Given the description of an element on the screen output the (x, y) to click on. 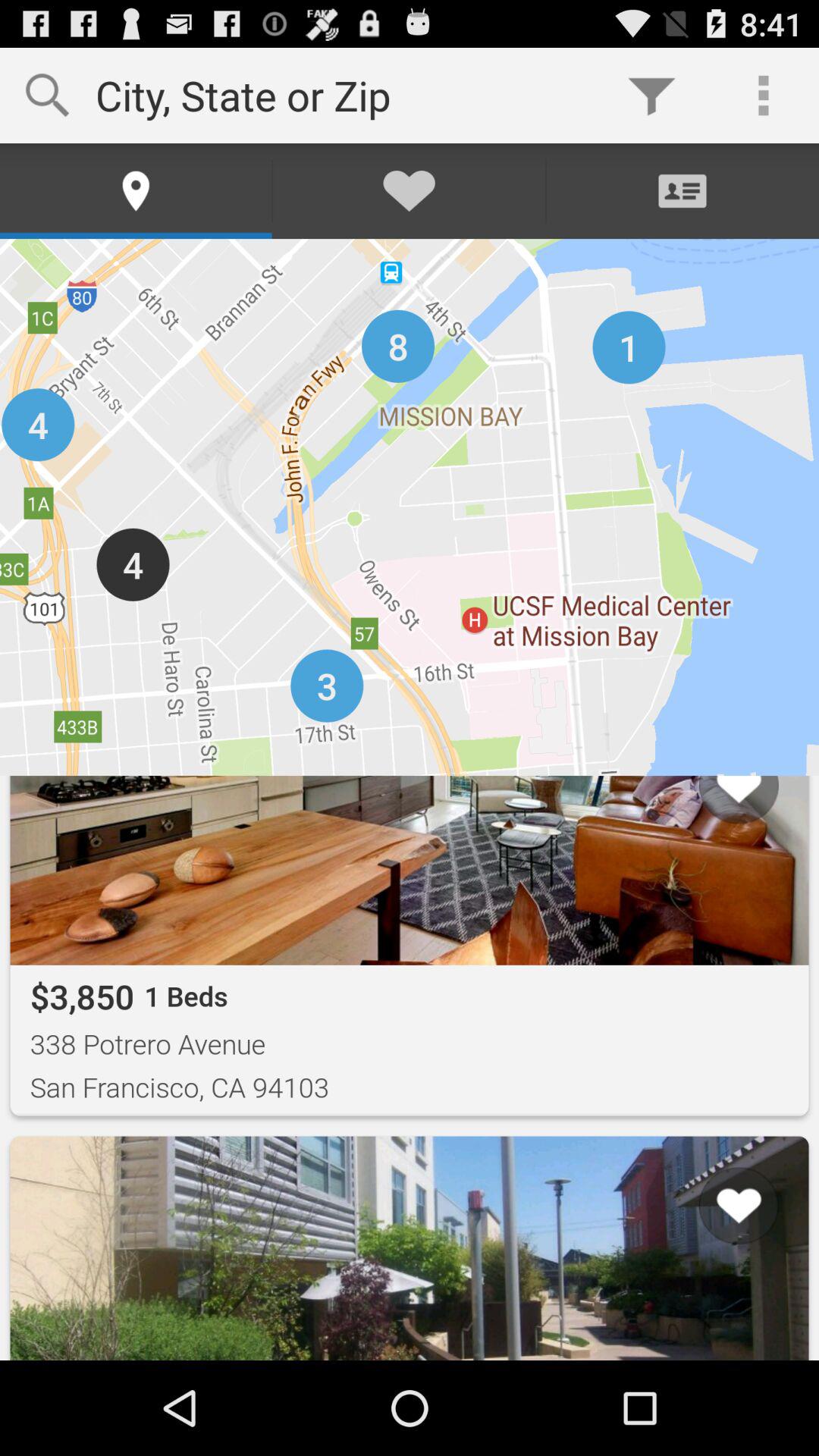
launch the button next to list (57, 1302)
